Given the description of an element on the screen output the (x, y) to click on. 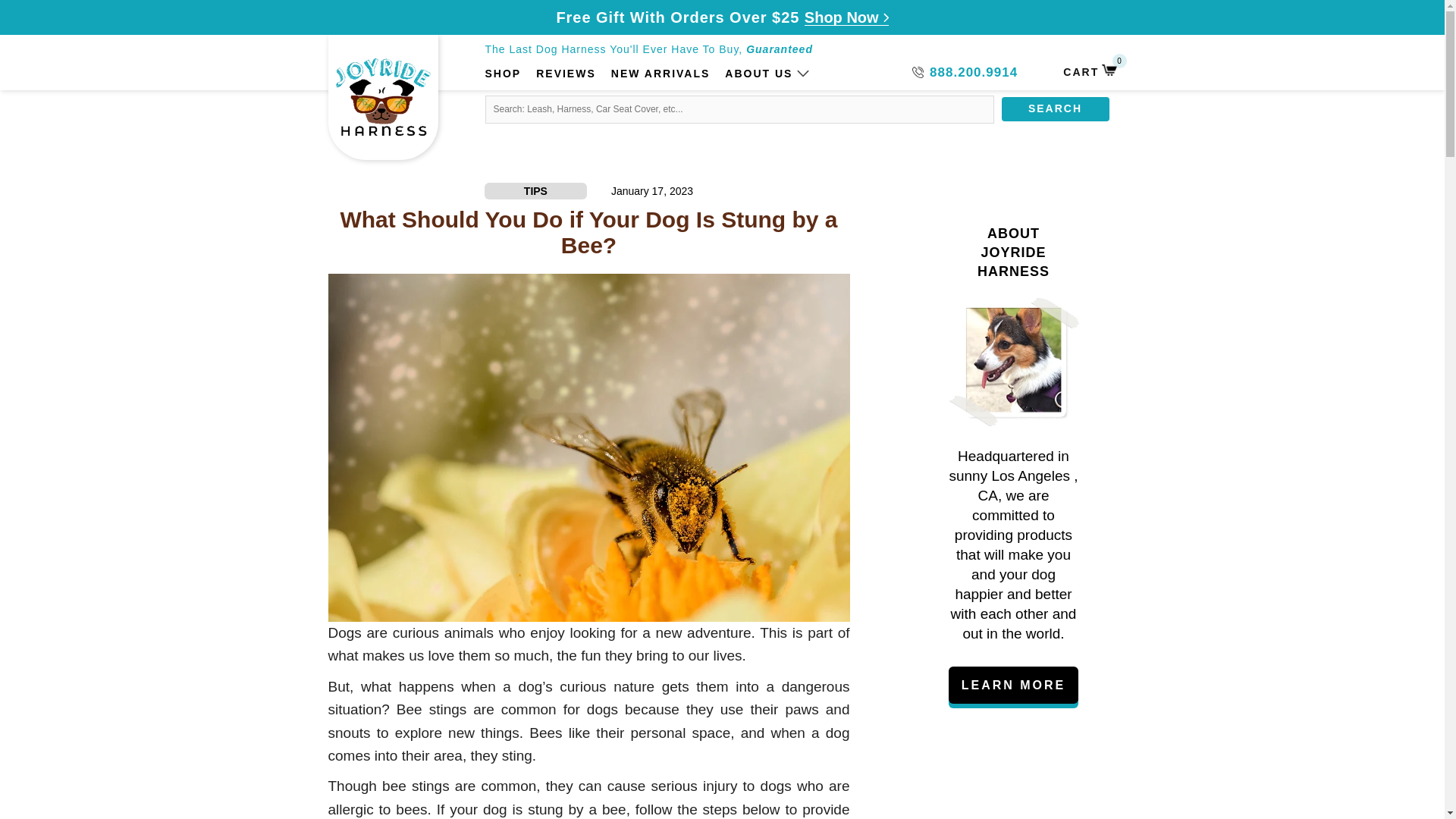
888.200.9914 (964, 72)
NEW ARRIVALS (660, 73)
ABOUT US (758, 73)
Skip to content (72, 27)
Shop Now (1089, 71)
REVIEWS (846, 17)
SHOP (565, 73)
SEARCH (502, 73)
